Given the description of an element on the screen output the (x, y) to click on. 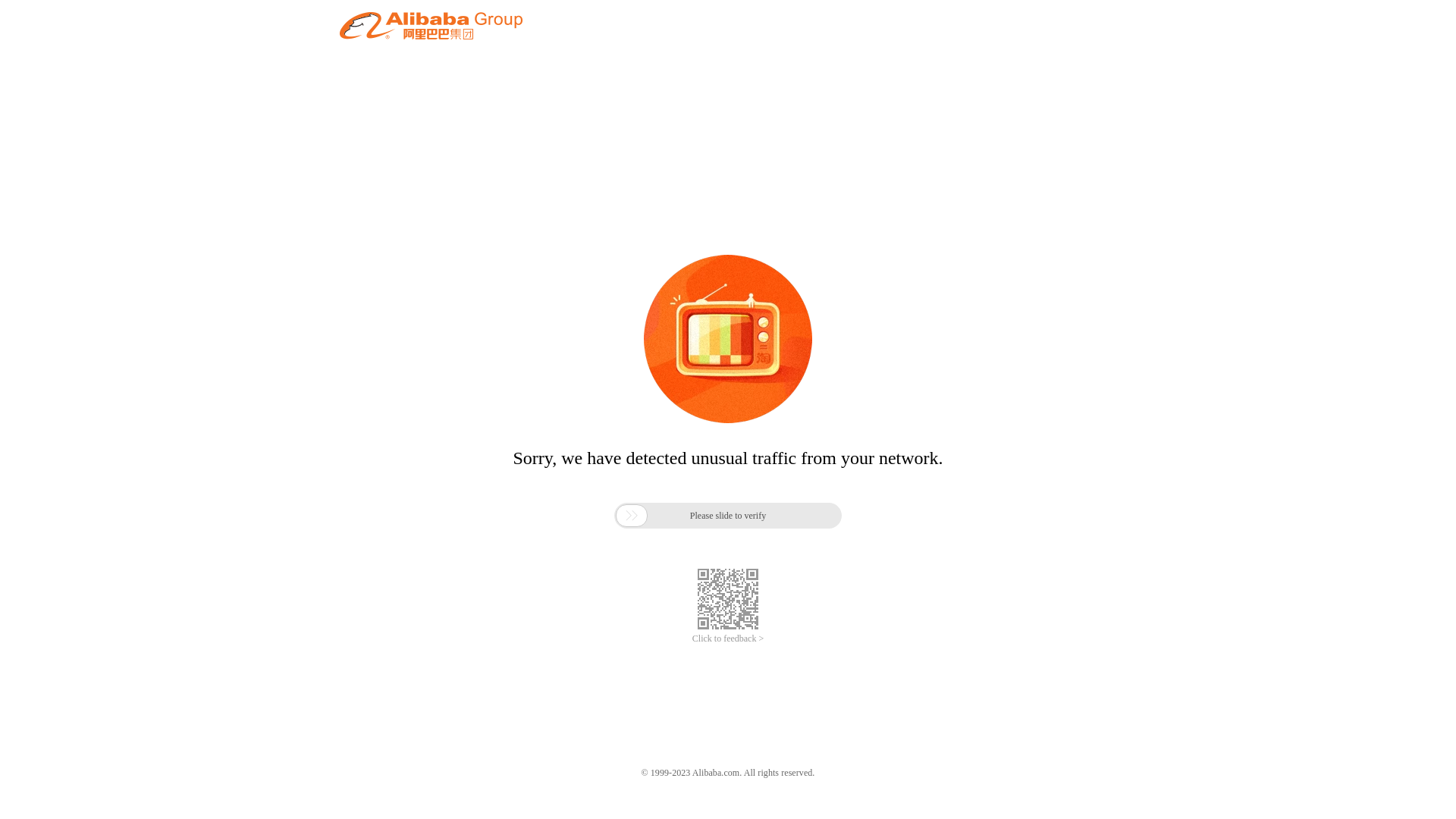
Click to feedback > Element type: text (727, 638)
